Given the description of an element on the screen output the (x, y) to click on. 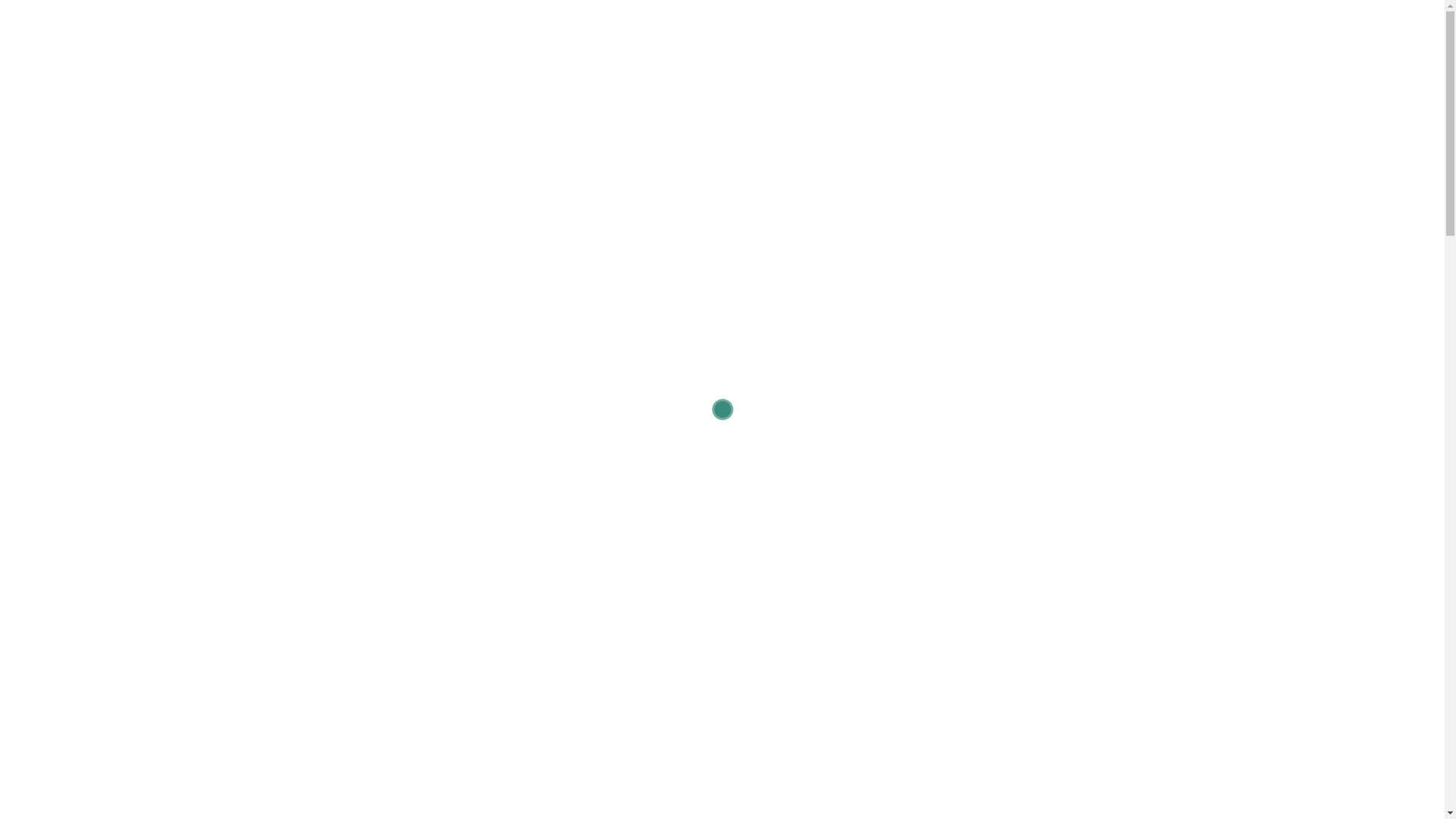
Herbal Gin Element type: text (706, 478)
greenlab.louise@gmail.com Element type: text (80, 21)
Floral Gin Element type: text (413, 478)
Cocktails Element type: text (926, 478)
Spicy Gin Element type: text (607, 478)
Tonics & Soft Element type: text (818, 478)
Contact Element type: text (33, 206)
Dry Gin Element type: text (324, 478)
Beer & Wines Element type: text (1035, 478)
News & Events Element type: text (53, 147)
Menu Element type: text (28, 127)
About Element type: text (28, 107)
Gallery Element type: text (32, 186)
Fruity Gin Element type: text (510, 478)
Book Element type: text (26, 166)
02/644.26.63 Element type: text (204, 21)
Food Element type: text (1128, 478)
Home Element type: text (28, 87)
